Given the description of an element on the screen output the (x, y) to click on. 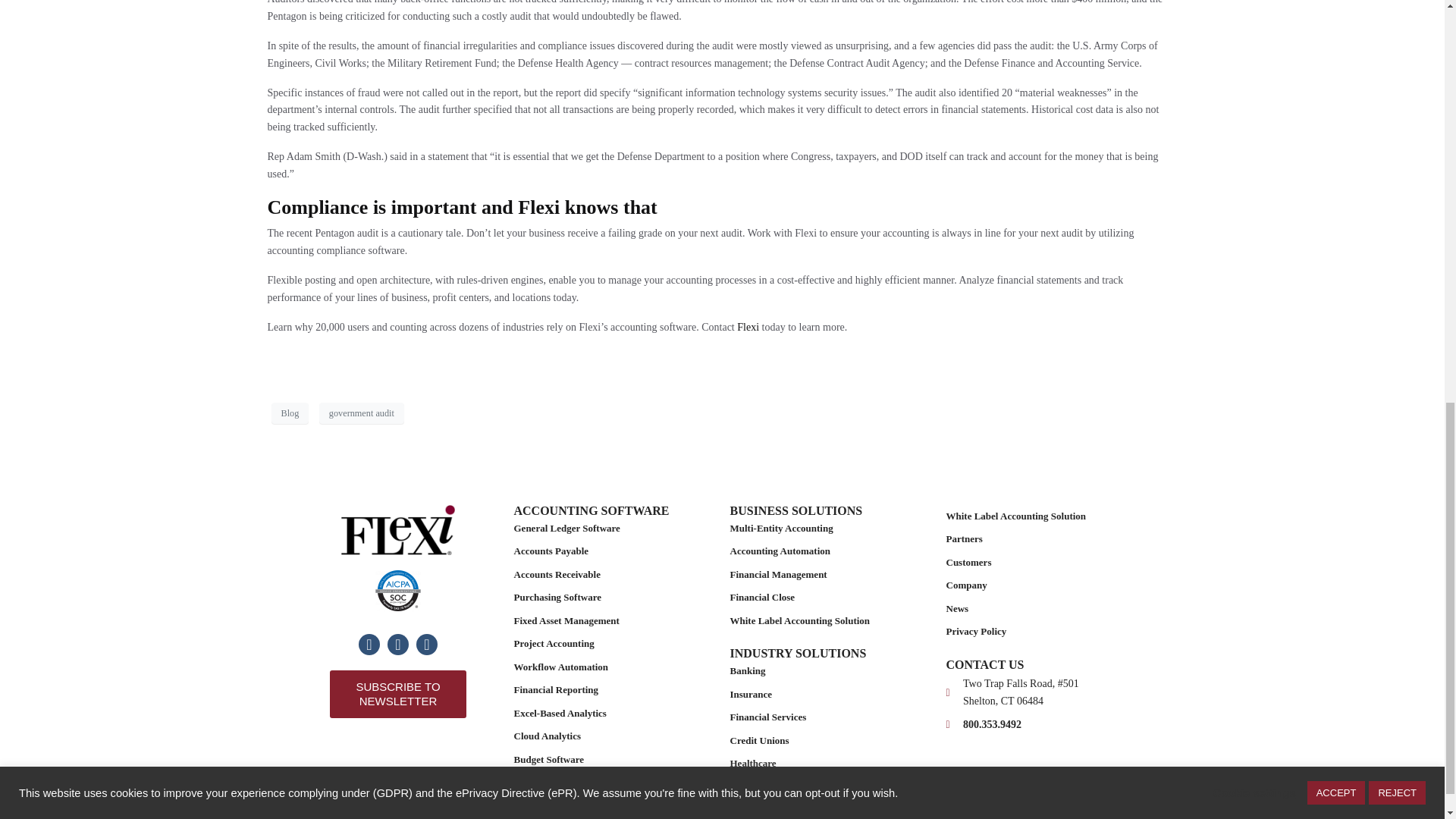
SOC (397, 590)
